Given the description of an element on the screen output the (x, y) to click on. 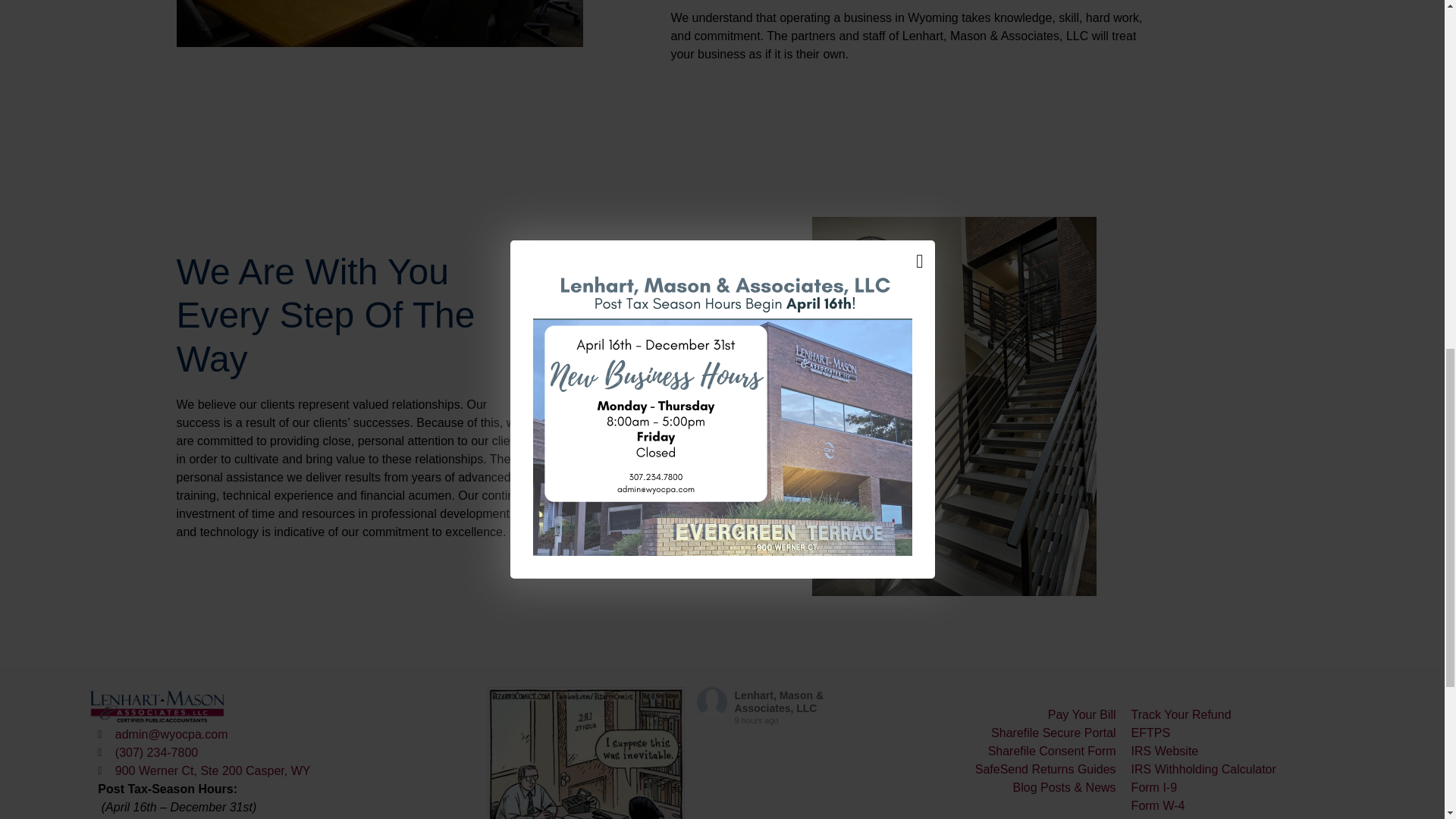
900 Werner Ct, Ste 200 Casper, WY (288, 771)
